Given the description of an element on the screen output the (x, y) to click on. 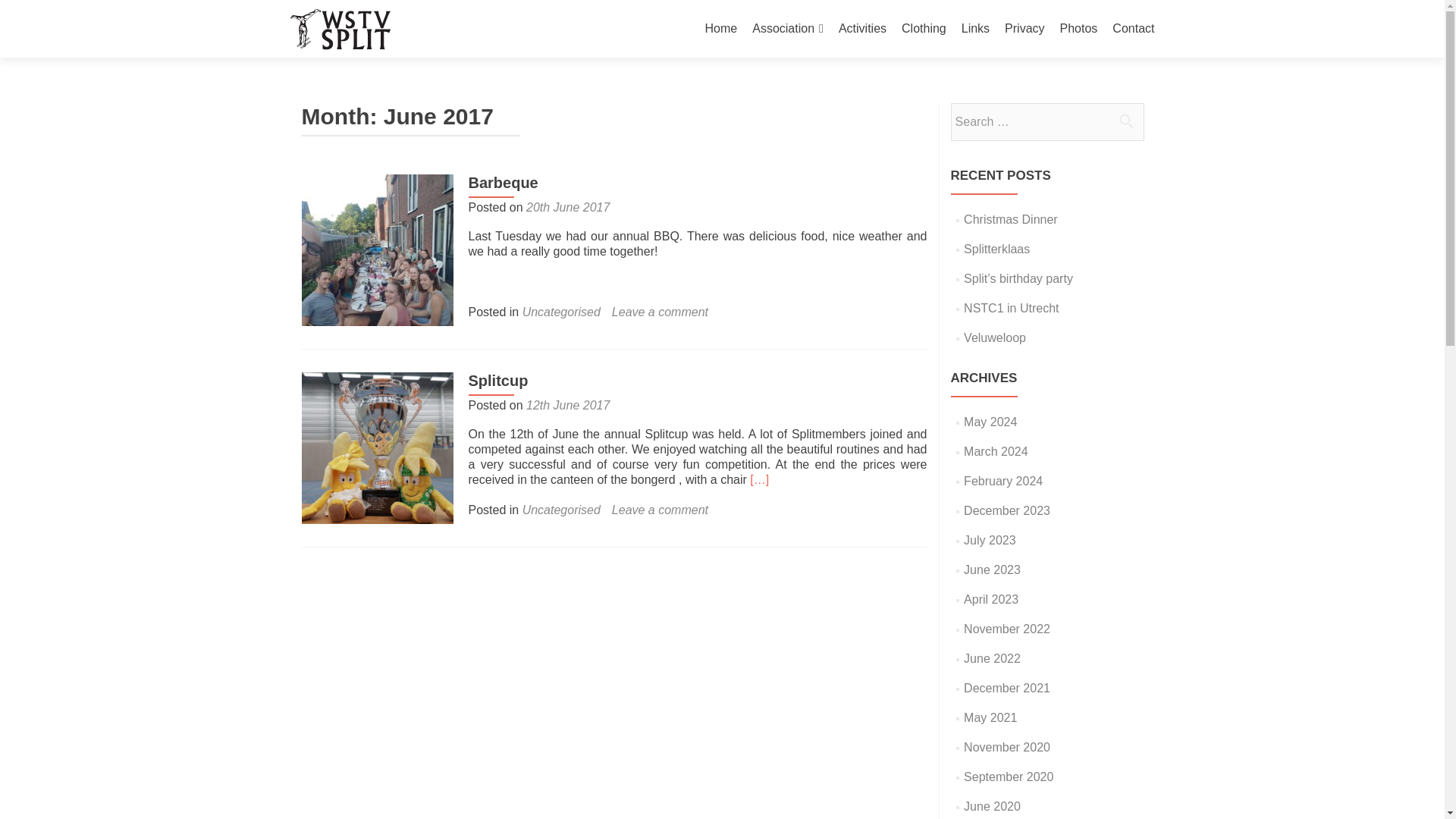
Barbeque (376, 248)
Splitcup (376, 446)
Search (1125, 120)
Splitterklaas (996, 248)
Uncategorised (560, 311)
Splitcup (498, 380)
12th June 2017 (567, 404)
Home (721, 28)
Leave a comment (659, 509)
Contact (1133, 28)
Clothing (923, 28)
Activities (862, 28)
Privacy (1023, 28)
Leave a comment (659, 311)
20th June 2017 (567, 206)
